Given the description of an element on the screen output the (x, y) to click on. 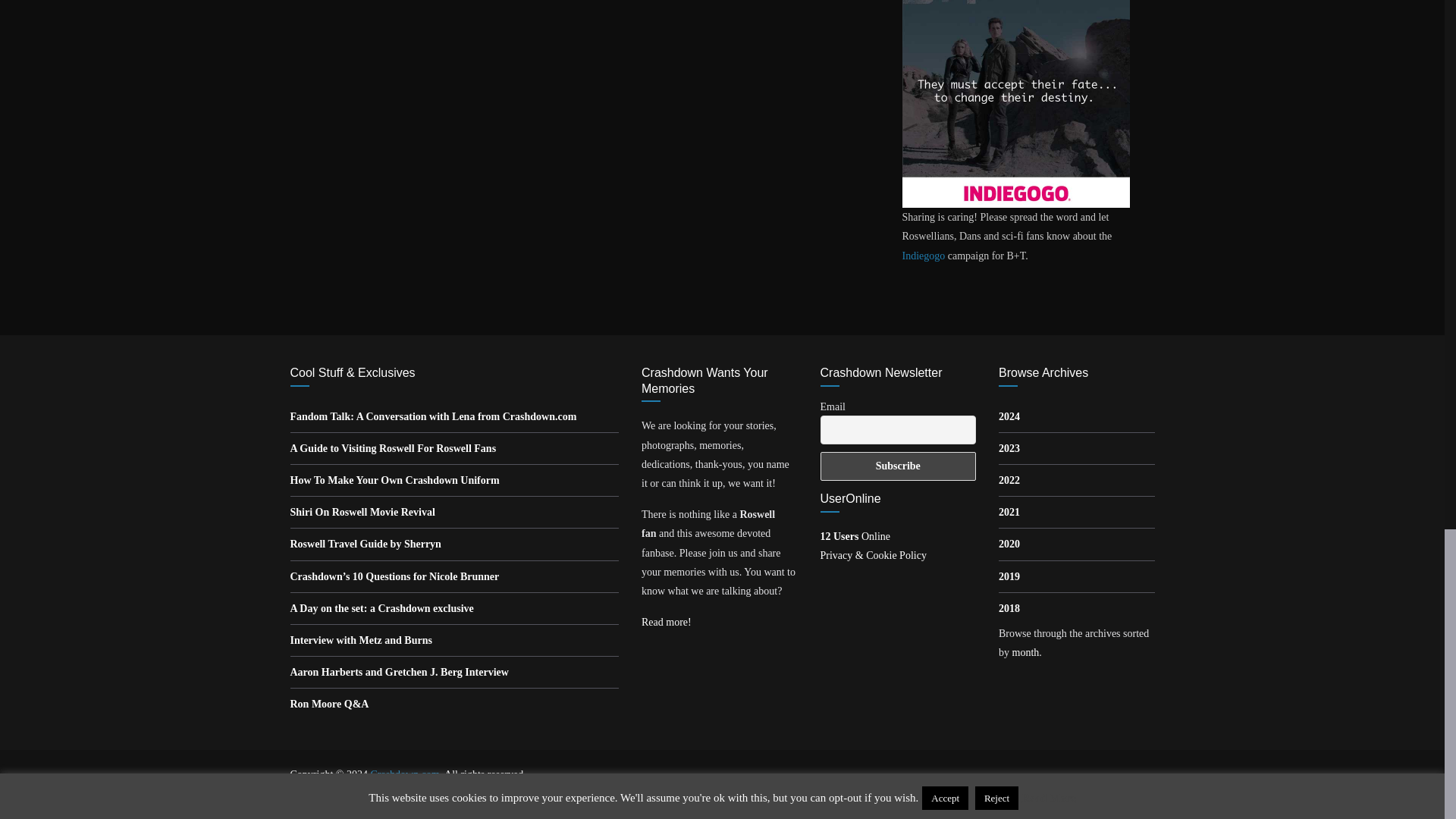
Opens in a new window (432, 416)
ColorMag (346, 794)
Crashdown.com (404, 774)
Subscribe (898, 466)
12 Users (856, 536)
